Given the description of an element on the screen output the (x, y) to click on. 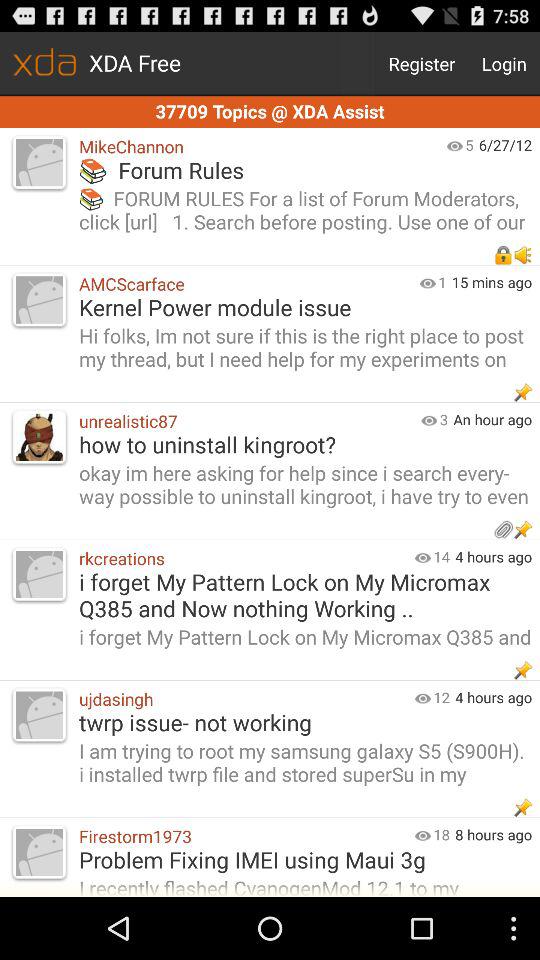
select app above 37709 topics xda item (504, 63)
